Given the description of an element on the screen output the (x, y) to click on. 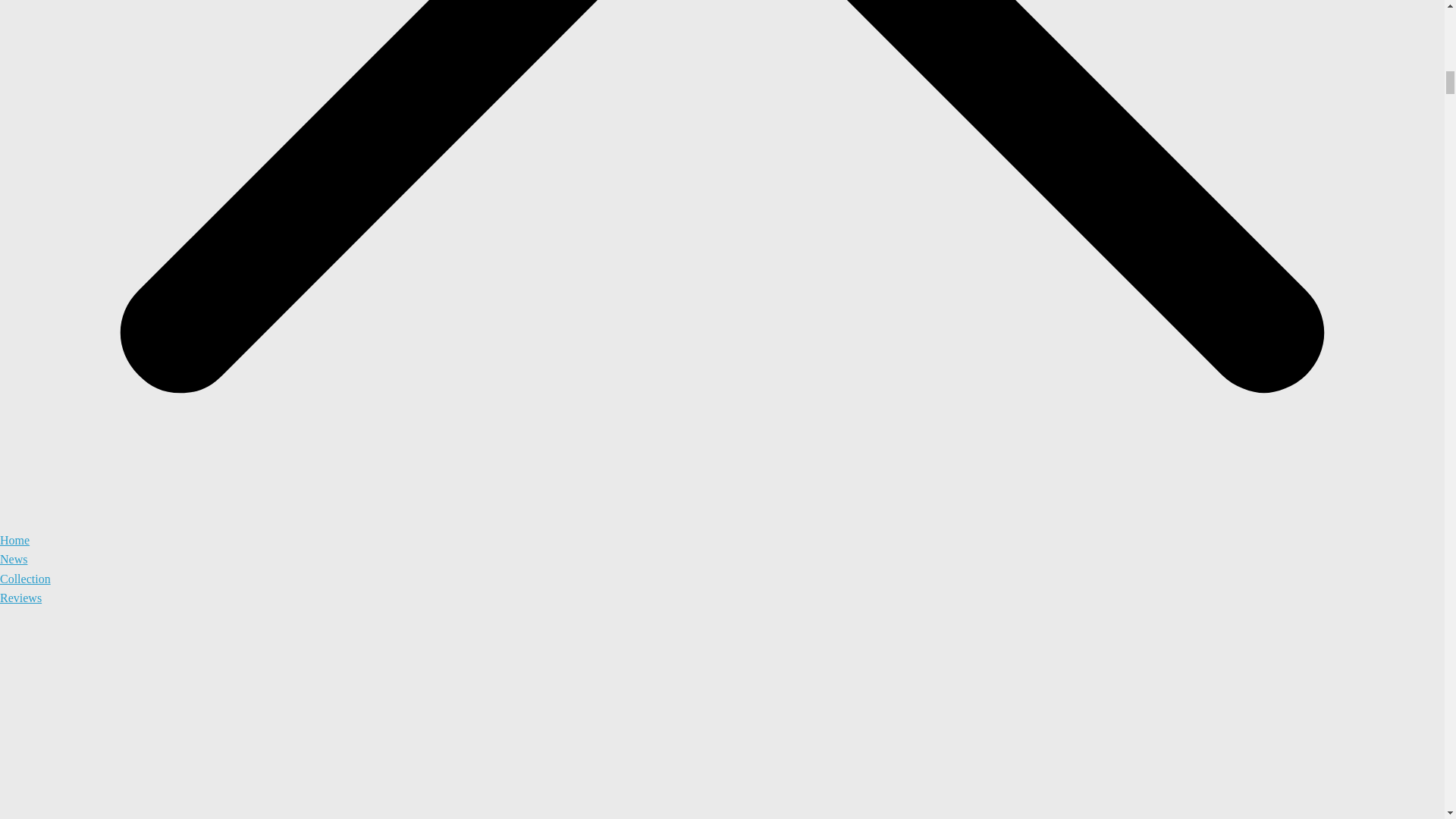
Collection (25, 578)
News (13, 558)
Reviews (21, 597)
Home (14, 540)
